Given the description of an element on the screen output the (x, y) to click on. 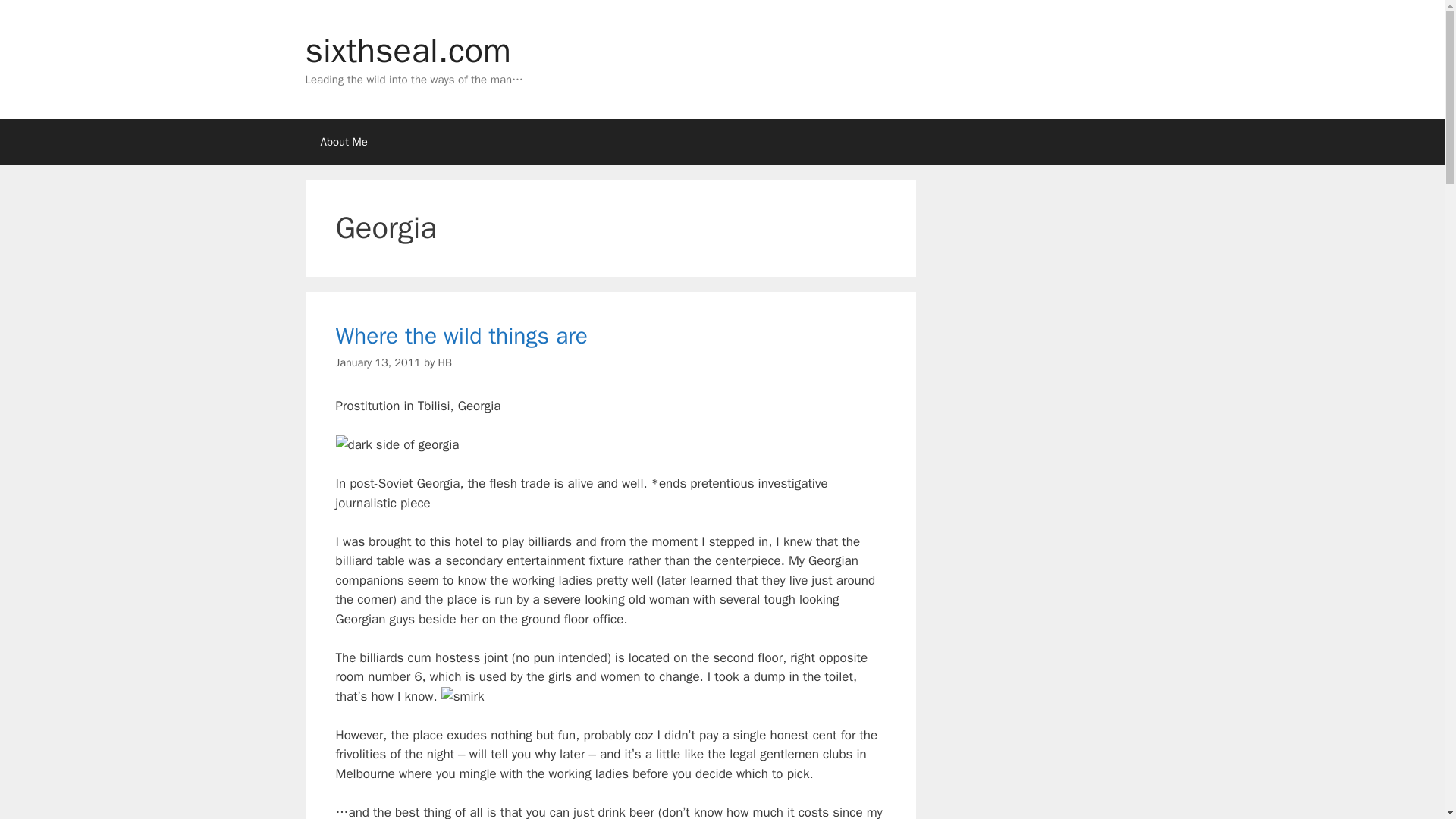
HB (444, 362)
View all posts by HB (444, 362)
Where the wild things are (461, 335)
About Me (342, 140)
sixthseal.com (407, 50)
January 13, 2011 (377, 362)
3:26 am (377, 362)
